Given the description of an element on the screen output the (x, y) to click on. 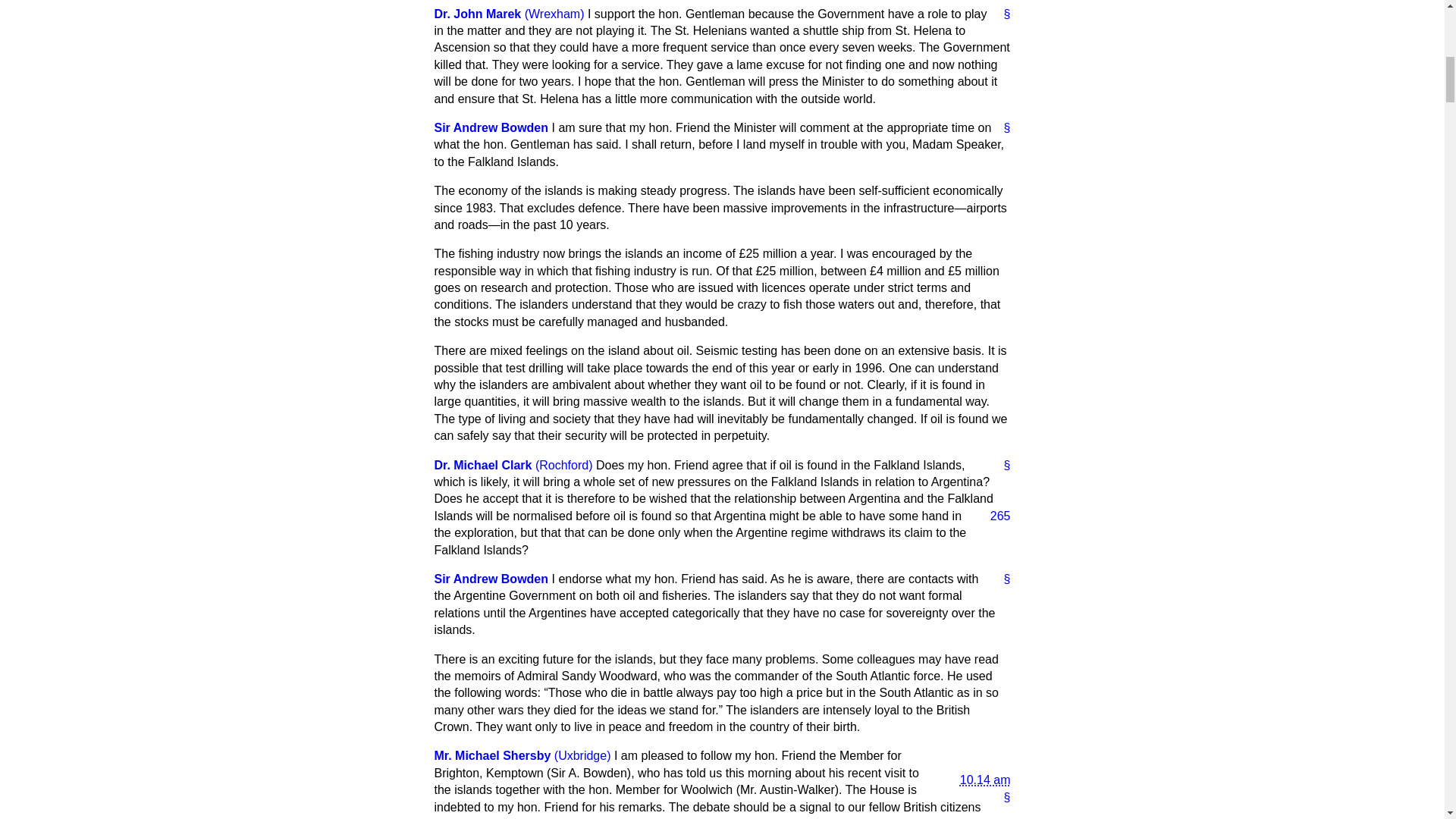
Dr Michael Clark (482, 464)
Wrexham (554, 13)
Sir Andrew Bowden (490, 578)
10.14 am (973, 767)
Dr John Marek (477, 13)
Link to this speech by Dr Michael Clark (1000, 465)
Link to this speech by Mr Andrew Bowden (1000, 127)
Mr Andrew Bowden (490, 127)
265 (994, 515)
Sir Andrew Bowden (490, 127)
